Given the description of an element on the screen output the (x, y) to click on. 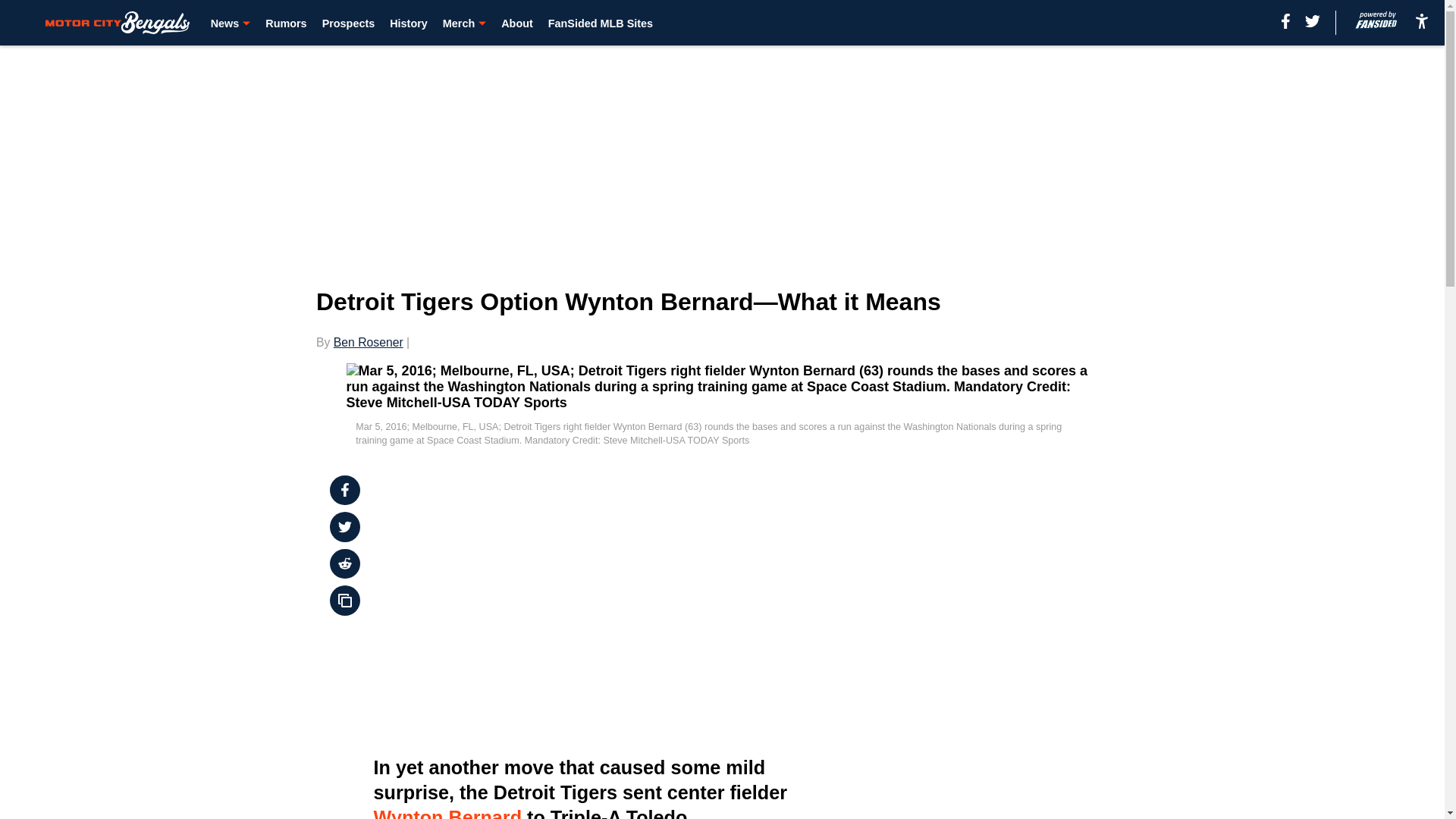
Wynton Bernard (447, 812)
About (516, 23)
History (409, 23)
Prospects (348, 23)
Ben Rosener (368, 341)
FanSided MLB Sites (600, 23)
Rumors (284, 23)
